Given the description of an element on the screen output the (x, y) to click on. 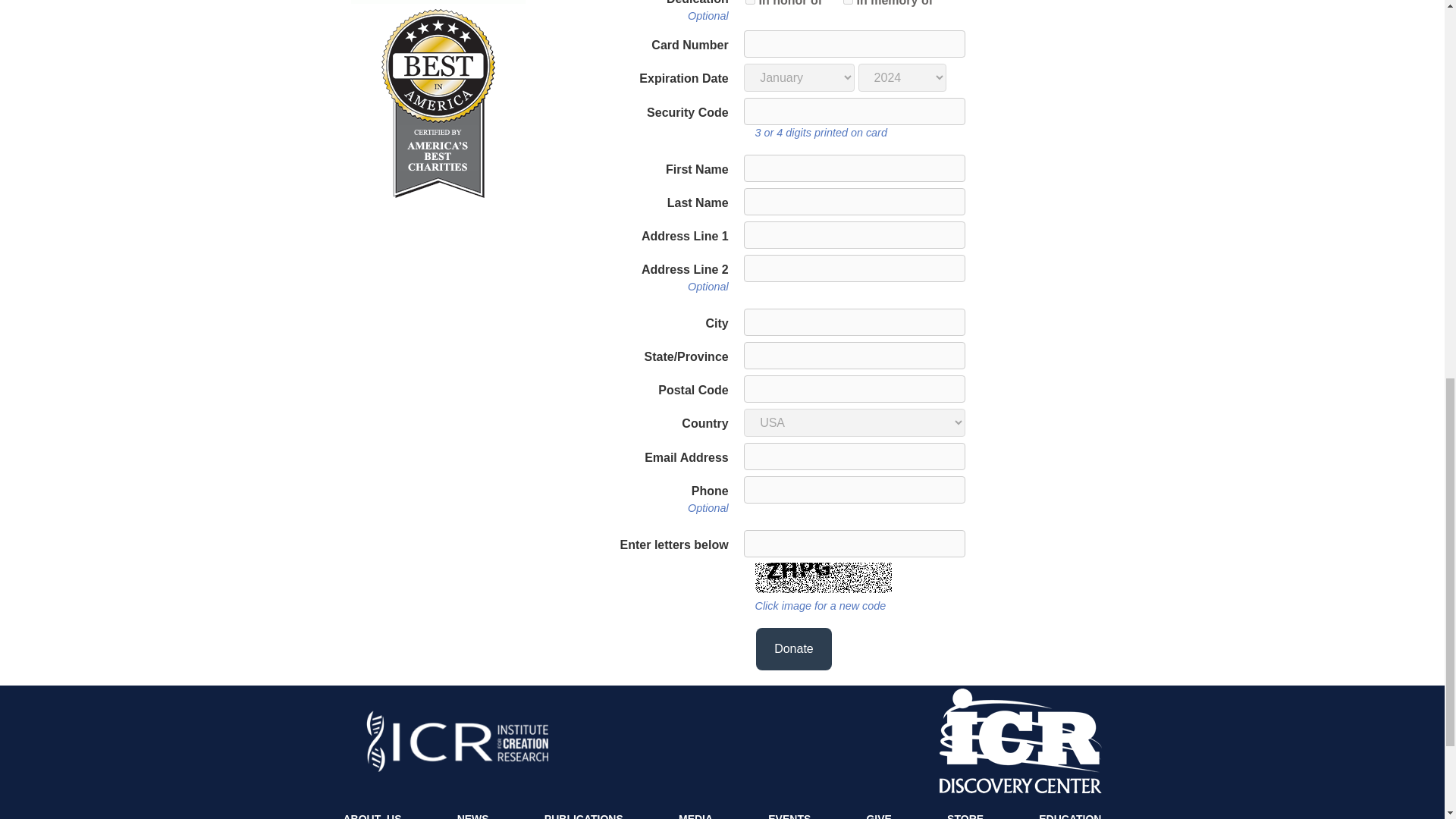
on (848, 2)
on (750, 2)
ICR's CFC identification number is 23095 (437, 2)
